Given the description of an element on the screen output the (x, y) to click on. 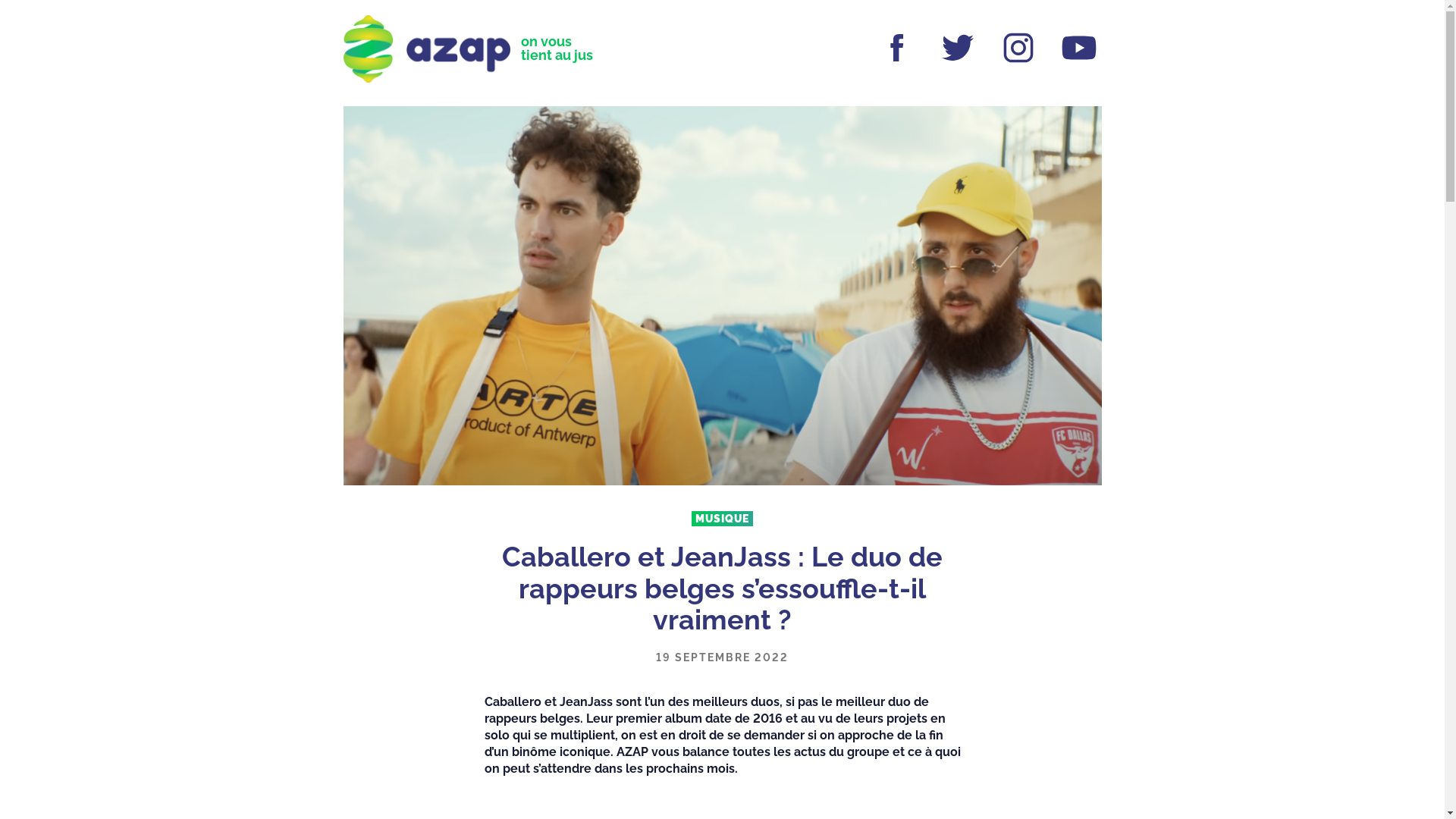
MUSIQUE Element type: text (722, 518)
